Given the description of an element on the screen output the (x, y) to click on. 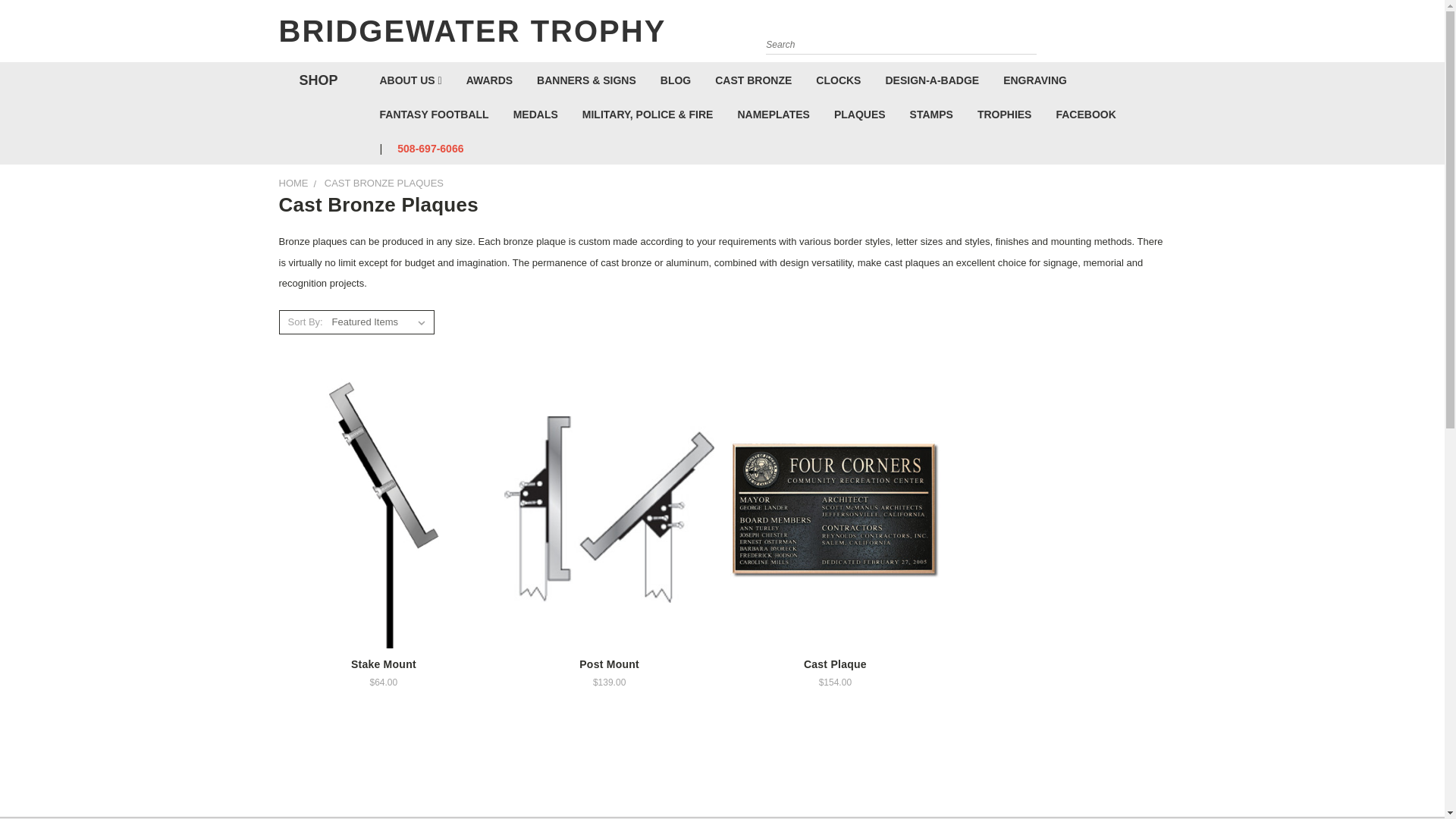
Cart (1161, 34)
BRIDGEWATER TROPHY (499, 76)
SHOP (314, 79)
Cast Plaque (835, 509)
Post Mount (608, 509)
User Toolbox (1105, 34)
Submit Search (1024, 32)
Gift Certificates (1135, 34)
